Given the description of an element on the screen output the (x, y) to click on. 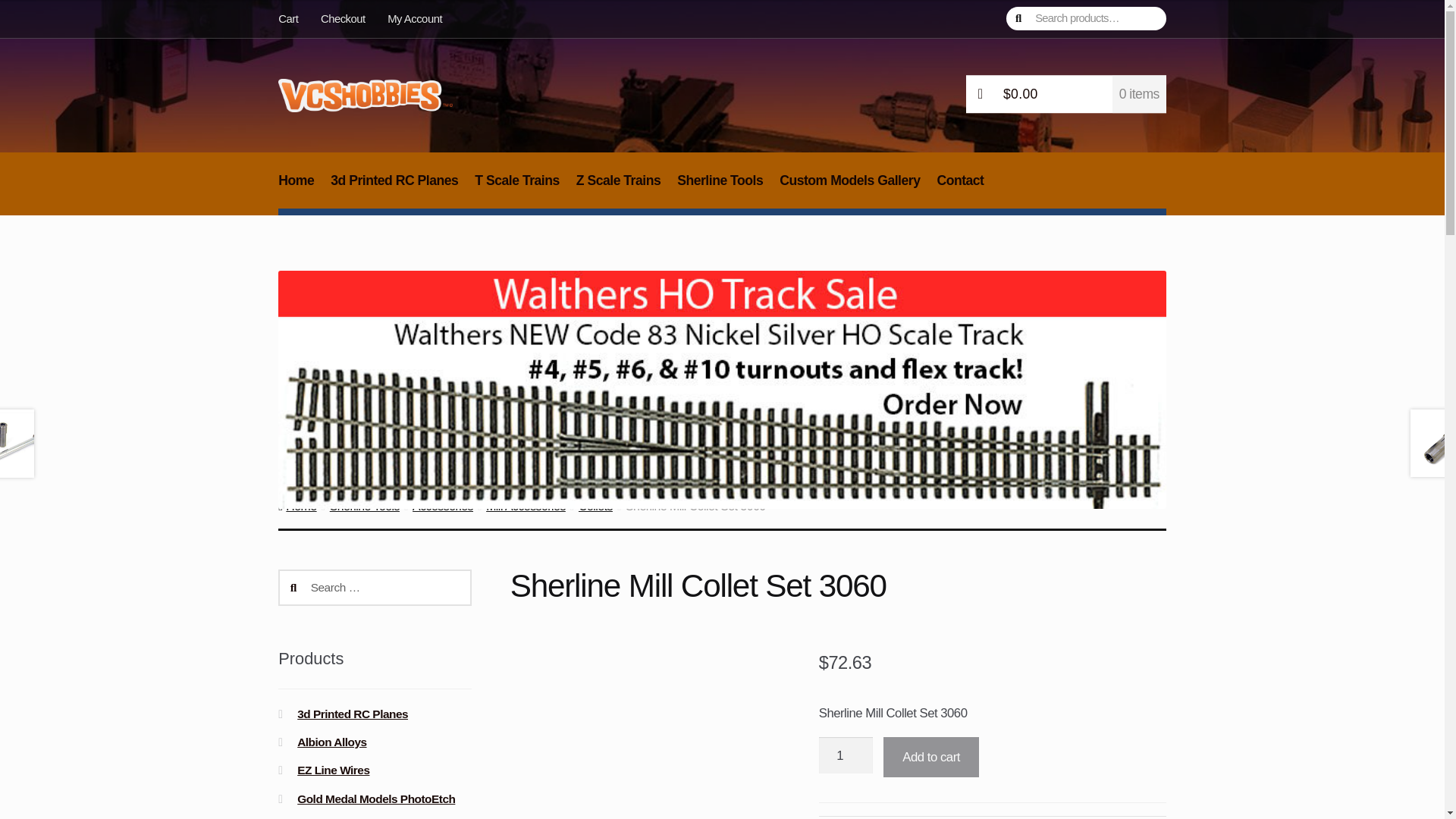
Contact (960, 188)
vcshobbies-logo - VCSHobbies (365, 95)
View your shopping cart (1066, 94)
1 (845, 755)
T Scale Trains (517, 188)
Home (296, 188)
Collets (595, 505)
Custom Models Gallery (849, 188)
Sherline Tools (364, 505)
Z Scale Trains (617, 188)
